Given the description of an element on the screen output the (x, y) to click on. 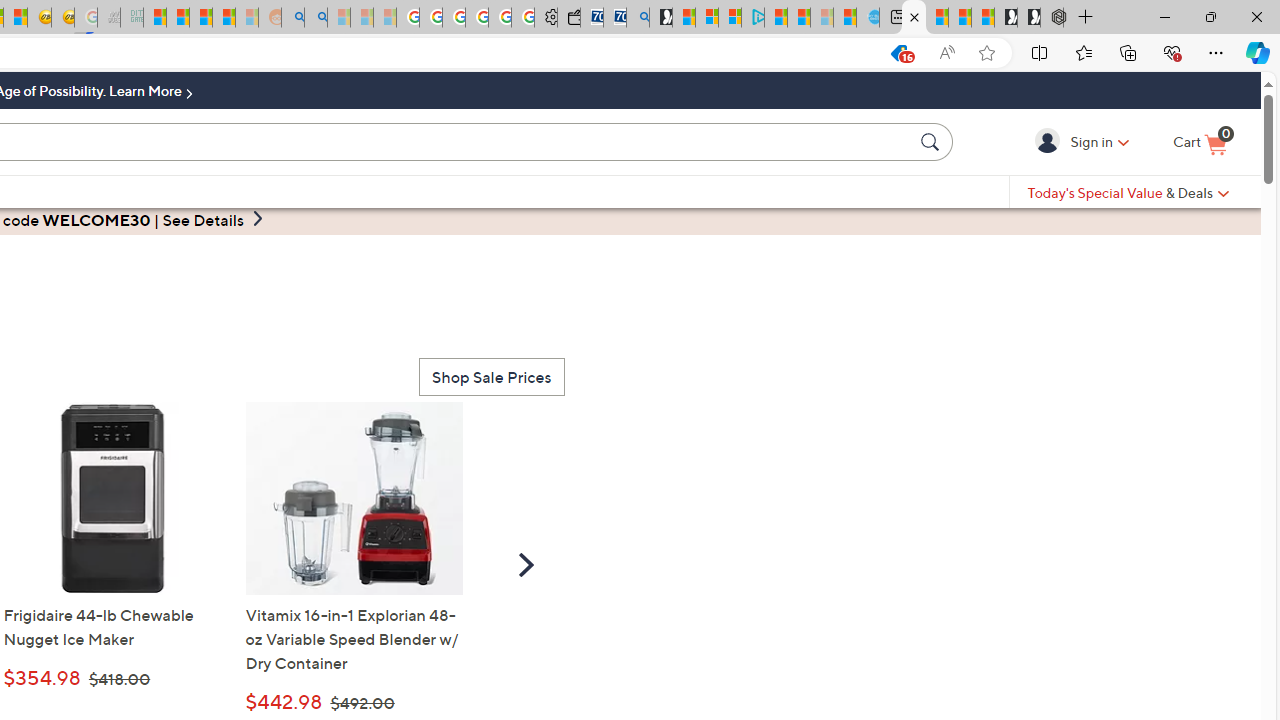
This site has coupons! Shopping in Microsoft Edge, 16 (898, 53)
Student Loan Update: Forgiveness Program Ends This Month (223, 17)
Shop Sale Prices (491, 376)
Search Submit (932, 141)
